Given the description of an element on the screen output the (x, y) to click on. 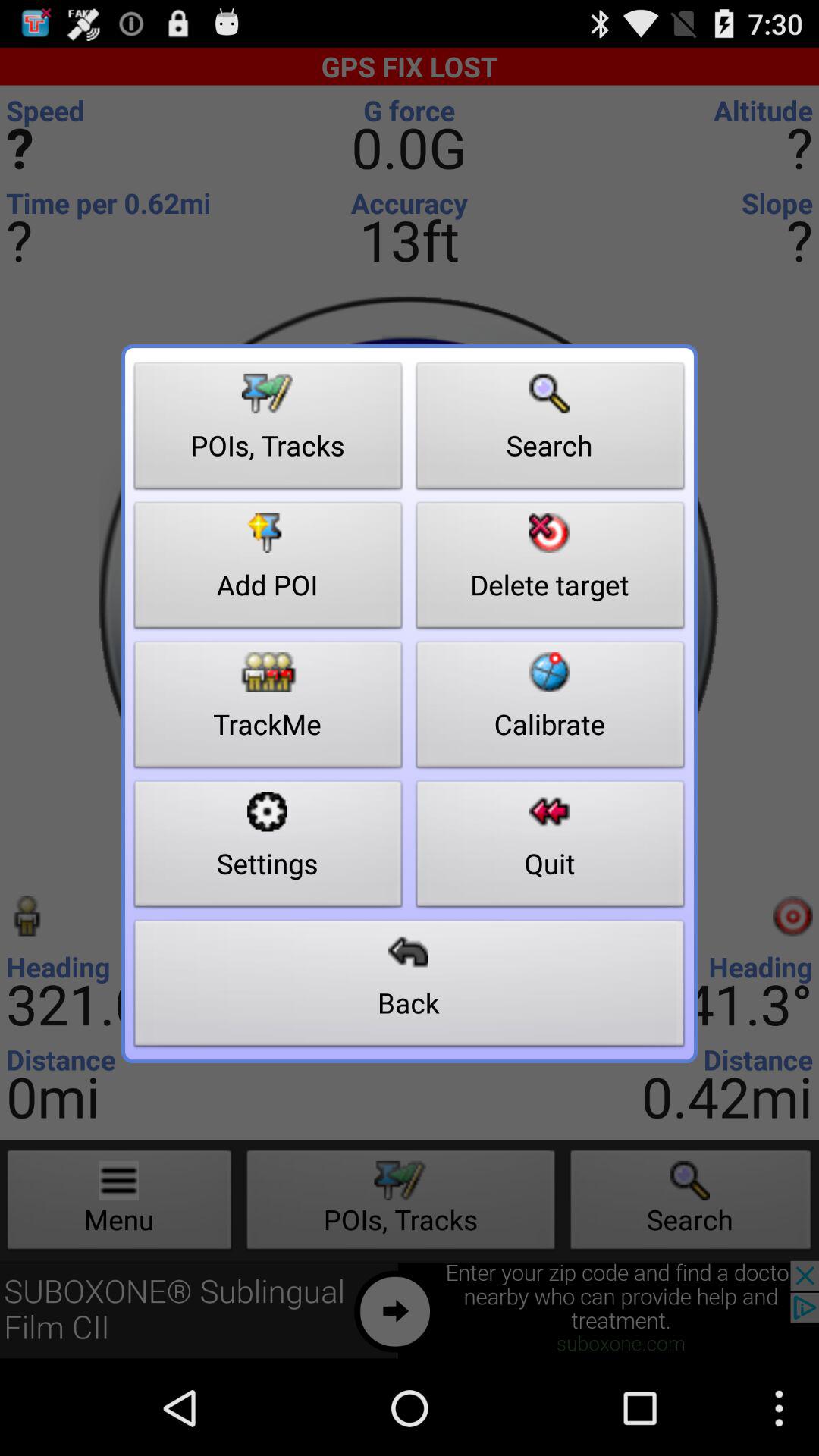
turn on button below settings button (409, 987)
